Given the description of an element on the screen output the (x, y) to click on. 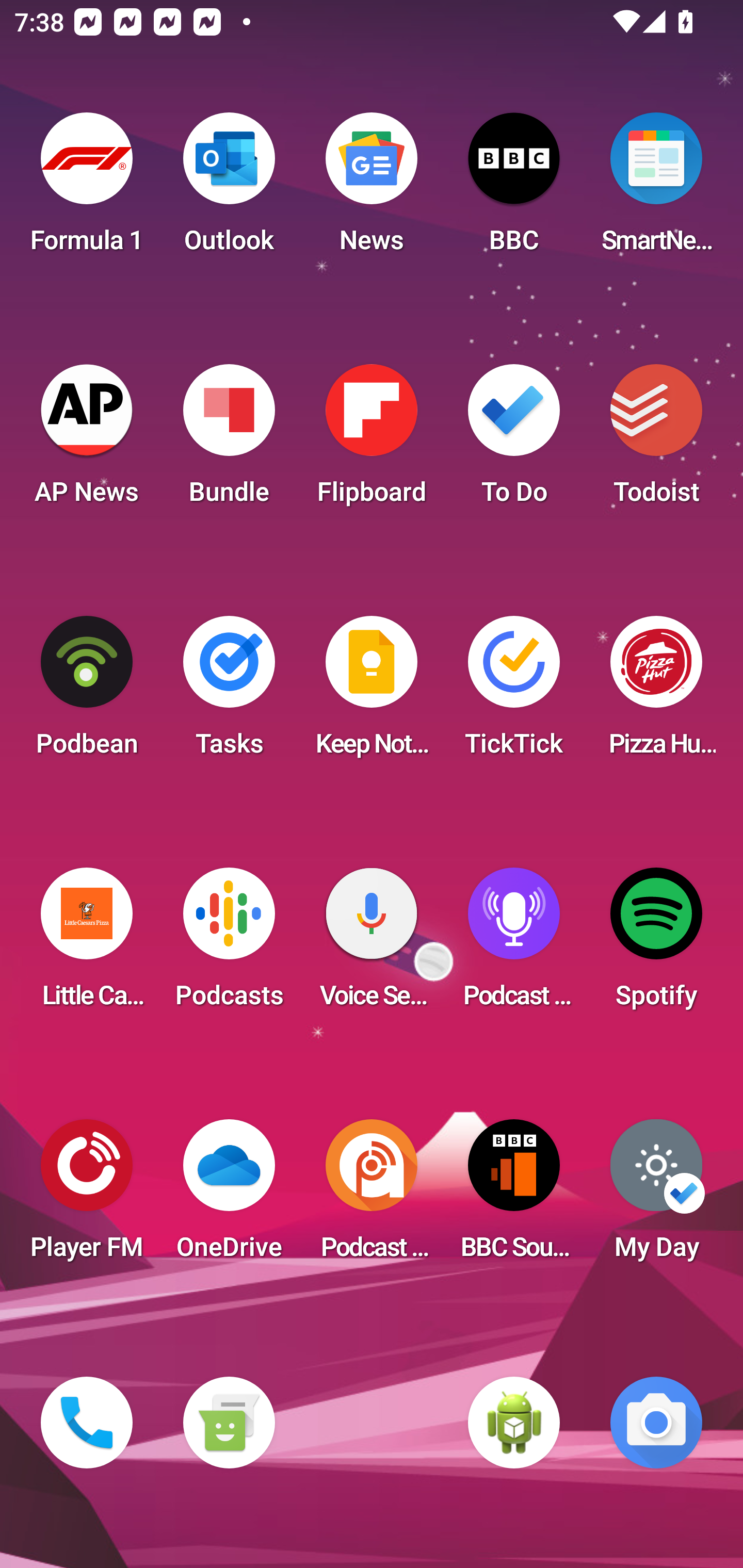
Formula 1 (86, 188)
Outlook (228, 188)
News (371, 188)
BBC (513, 188)
SmartNews (656, 188)
AP News (86, 440)
Bundle (228, 440)
Flipboard (371, 440)
To Do (513, 440)
Todoist (656, 440)
Podbean (86, 692)
Tasks (228, 692)
Keep Notes (371, 692)
TickTick (513, 692)
Pizza Hut HK & Macau (656, 692)
Little Caesars Pizza (86, 943)
Podcasts (228, 943)
Voice Search (371, 943)
Podcast Player (513, 943)
Spotify (656, 943)
Player FM (86, 1195)
OneDrive (228, 1195)
Podcast Addict (371, 1195)
BBC Sounds (513, 1195)
My Day (656, 1195)
Phone (86, 1422)
Messaging (228, 1422)
WebView Browser Tester (513, 1422)
Camera (656, 1422)
